Given the description of an element on the screen output the (x, y) to click on. 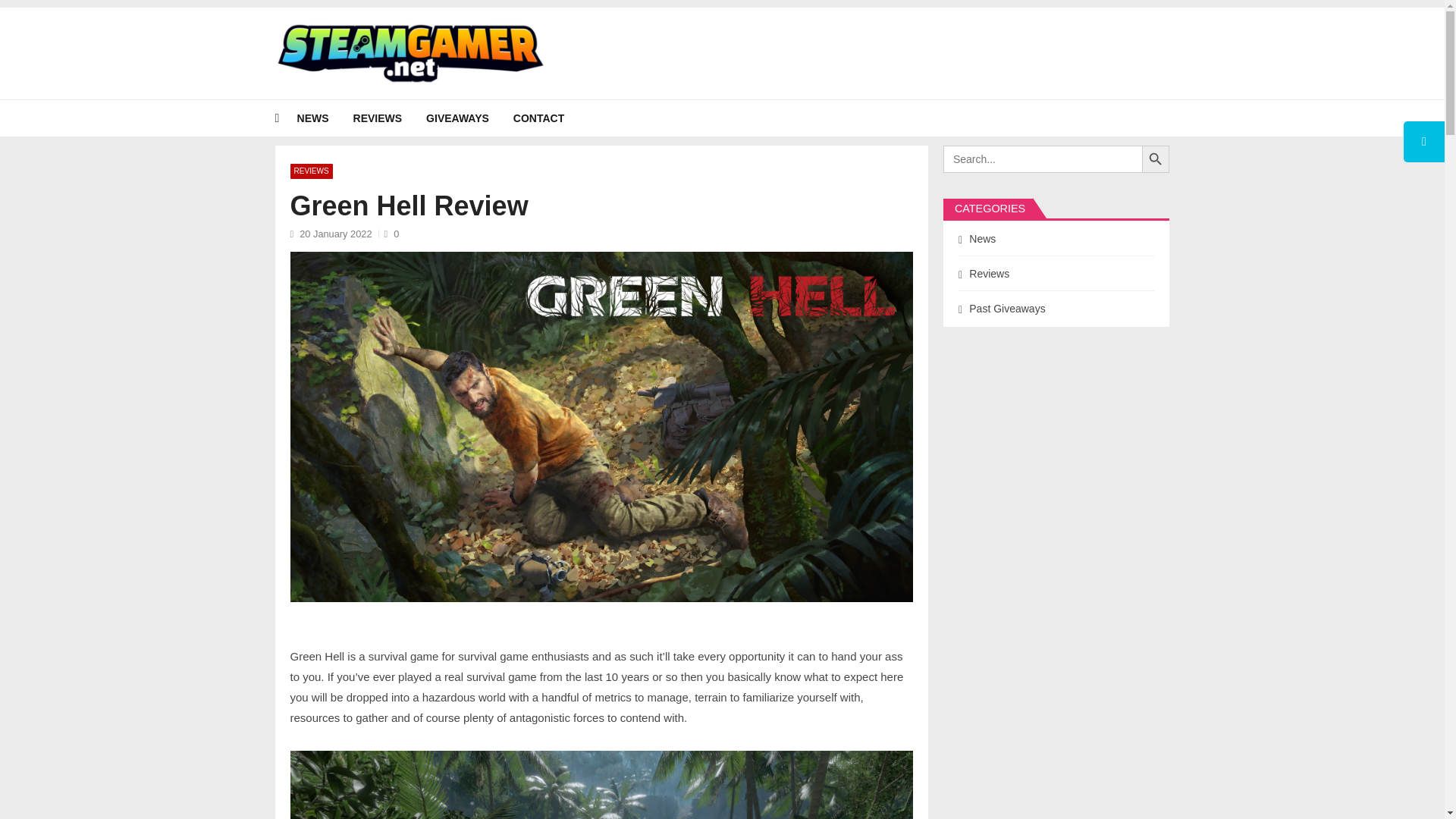
CONTACT (550, 117)
NEWS (325, 117)
Steam Gamer (326, 92)
GIVEAWAYS (469, 117)
REVIEWS (389, 117)
News (325, 117)
REVIEWS (310, 171)
